Given the description of an element on the screen output the (x, y) to click on. 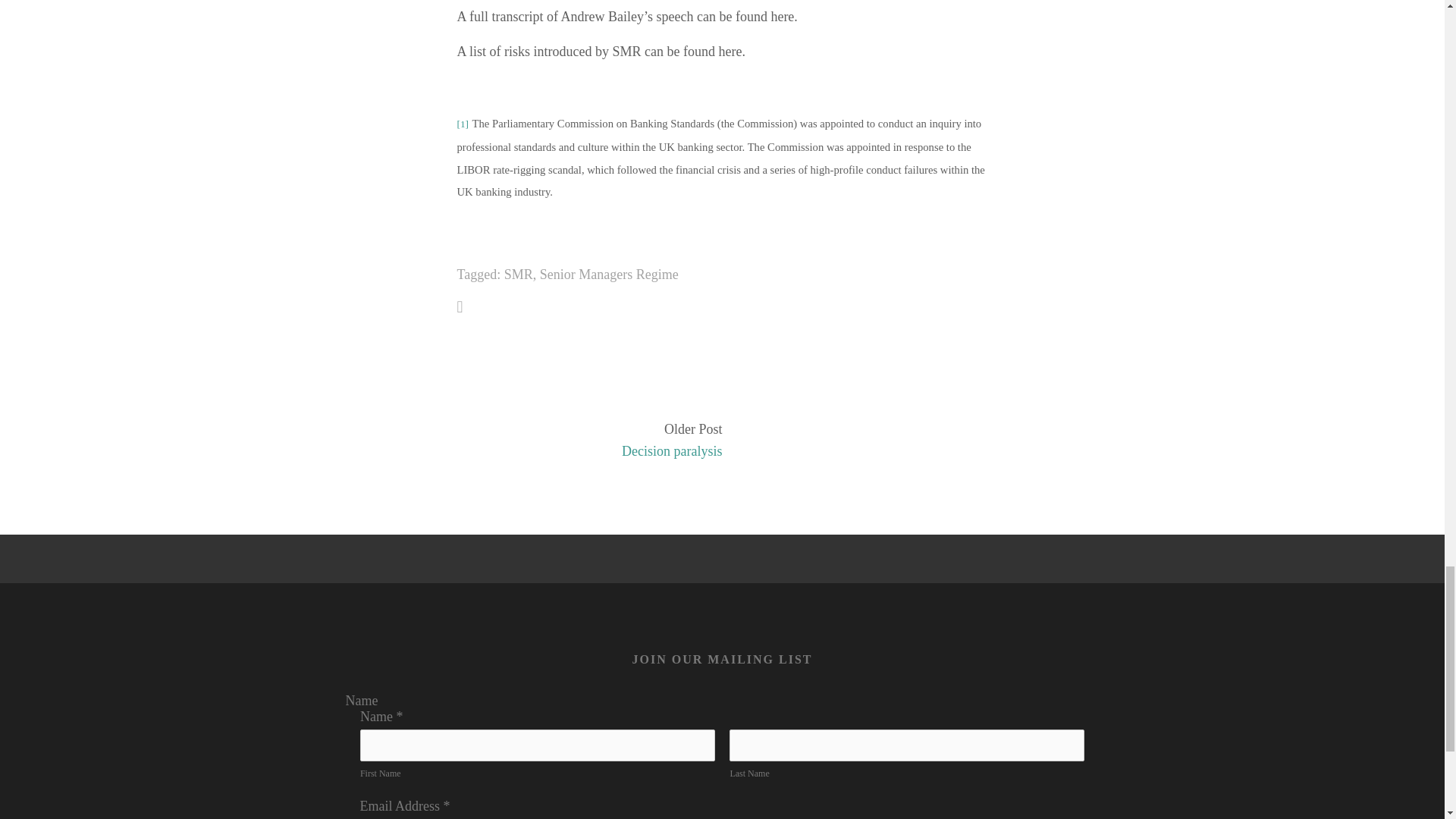
Decision paralysis (596, 451)
Senior Managers Regime (609, 273)
SMR (517, 273)
